Given the description of an element on the screen output the (x, y) to click on. 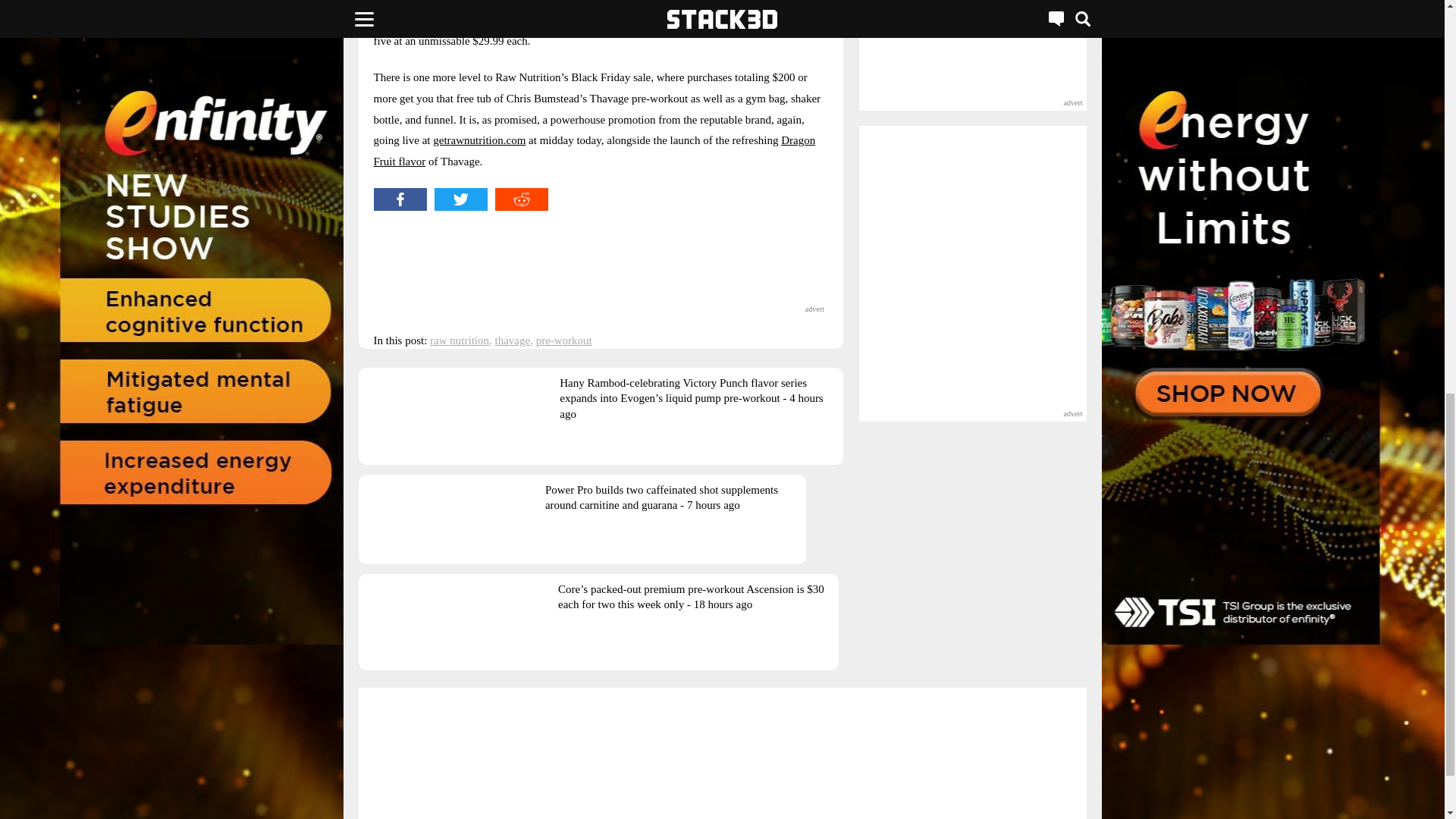
raw nutrition (459, 340)
Dragon Fruit flavor (593, 150)
getrawnutrition.com (478, 140)
